Given the description of an element on the screen output the (x, y) to click on. 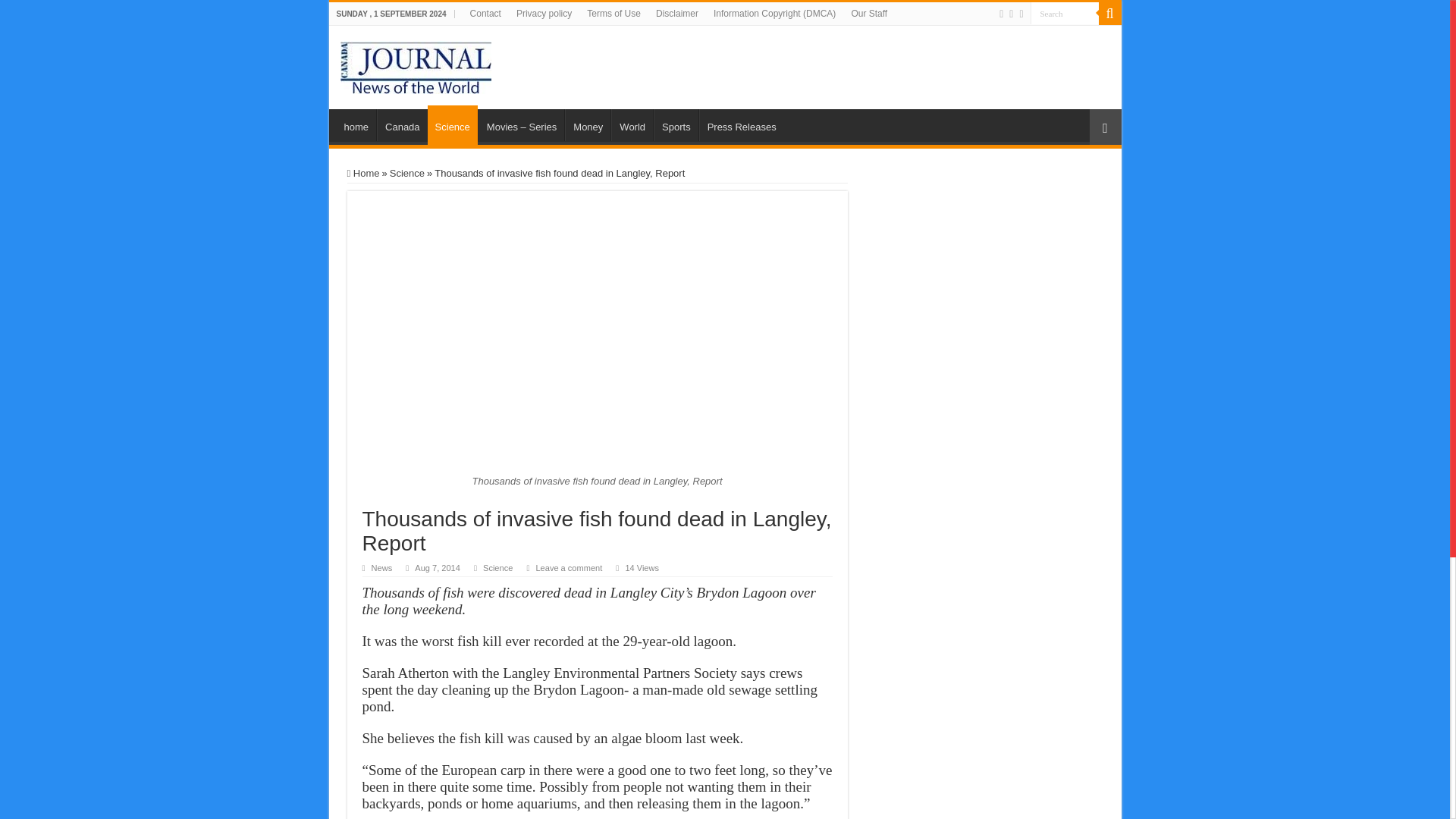
Money (587, 124)
Terms of Use (613, 13)
Random Article (1105, 126)
Press Releases (741, 124)
Contact (485, 13)
home (356, 124)
Search (1109, 13)
Search (1063, 13)
Privacy policy (543, 13)
Search (1063, 13)
